Given the description of an element on the screen output the (x, y) to click on. 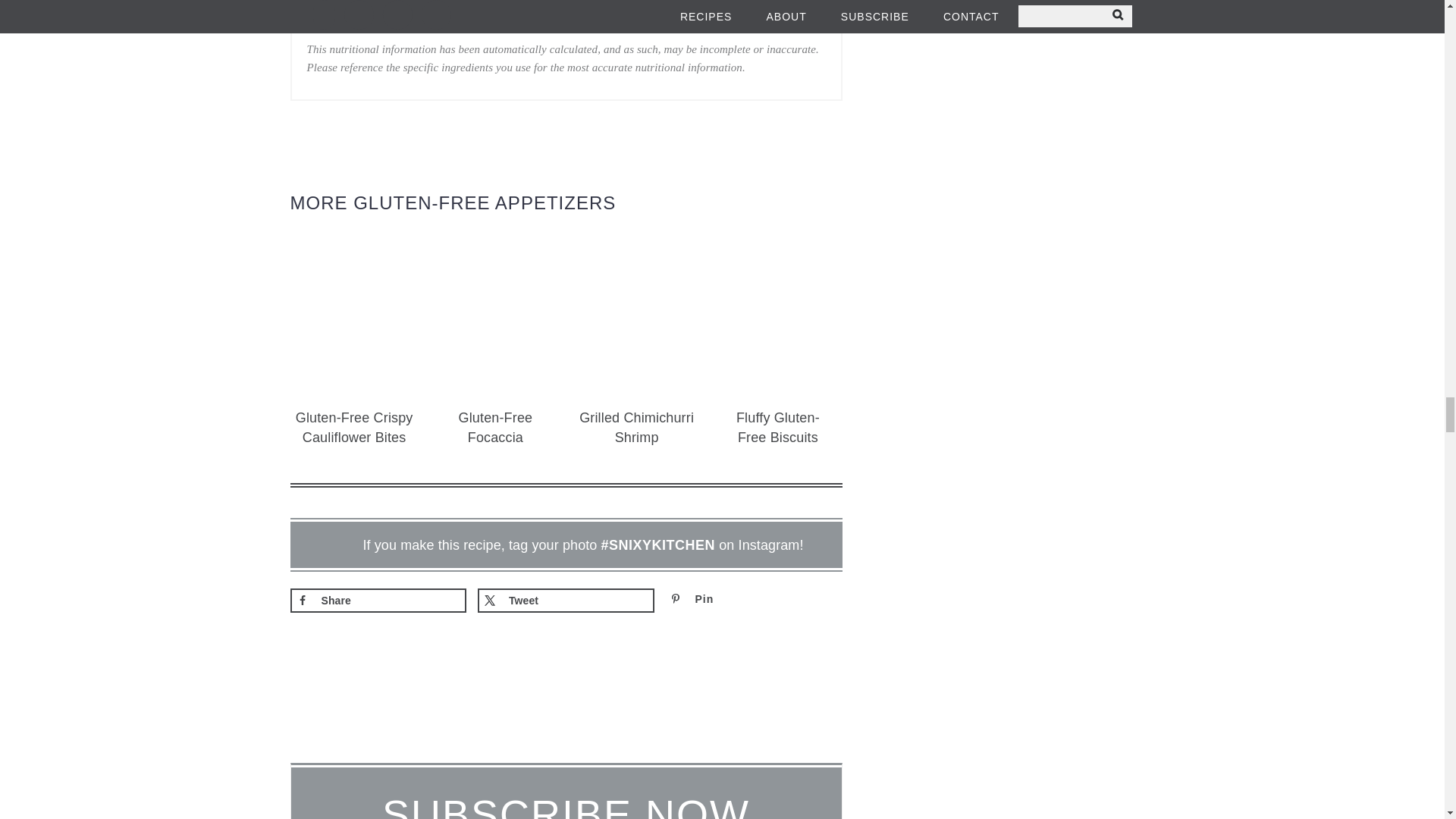
Share on X (565, 600)
Share on Facebook (377, 600)
